Given the description of an element on the screen output the (x, y) to click on. 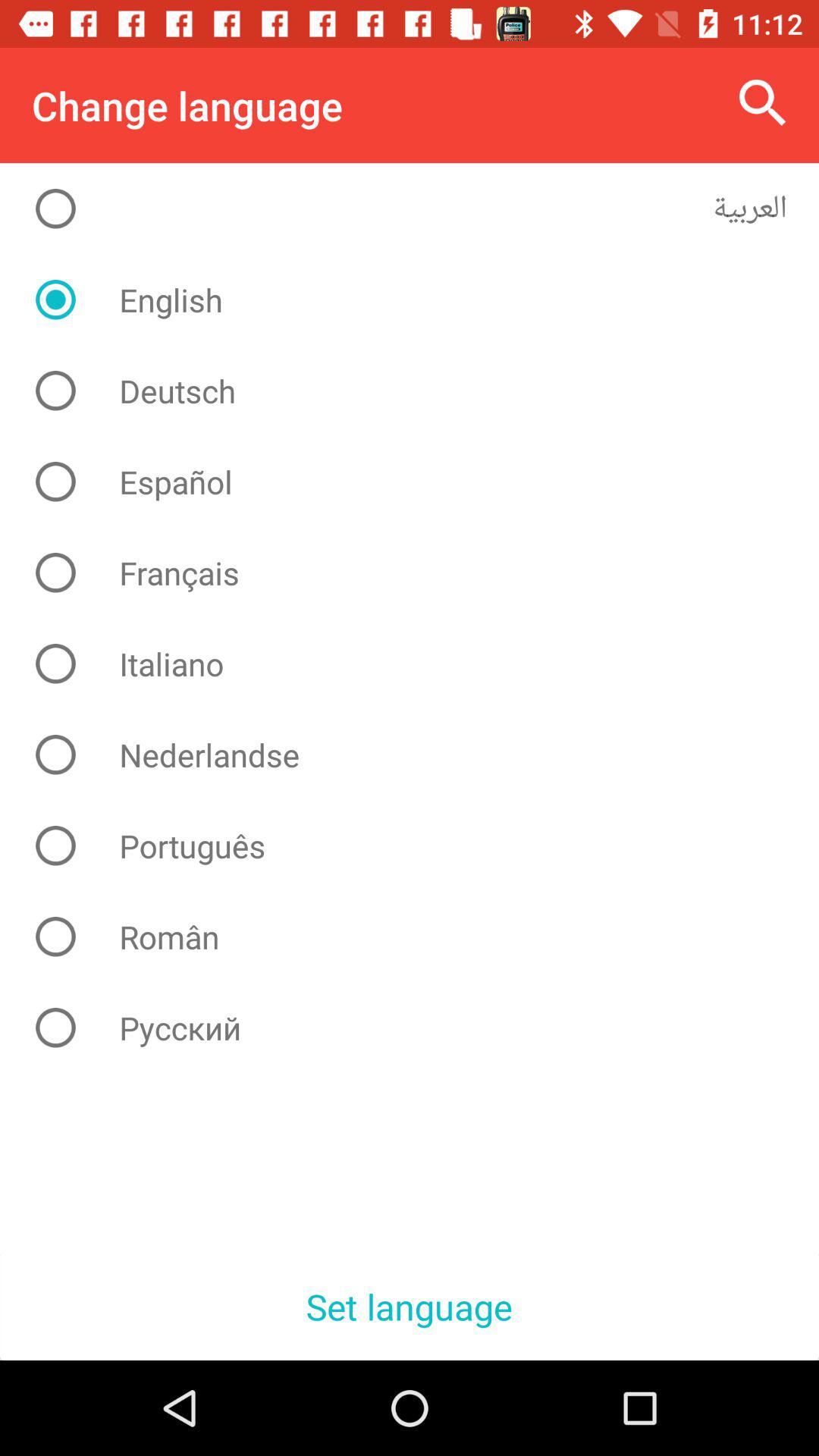
press item above the deutsch item (421, 299)
